Given the description of an element on the screen output the (x, y) to click on. 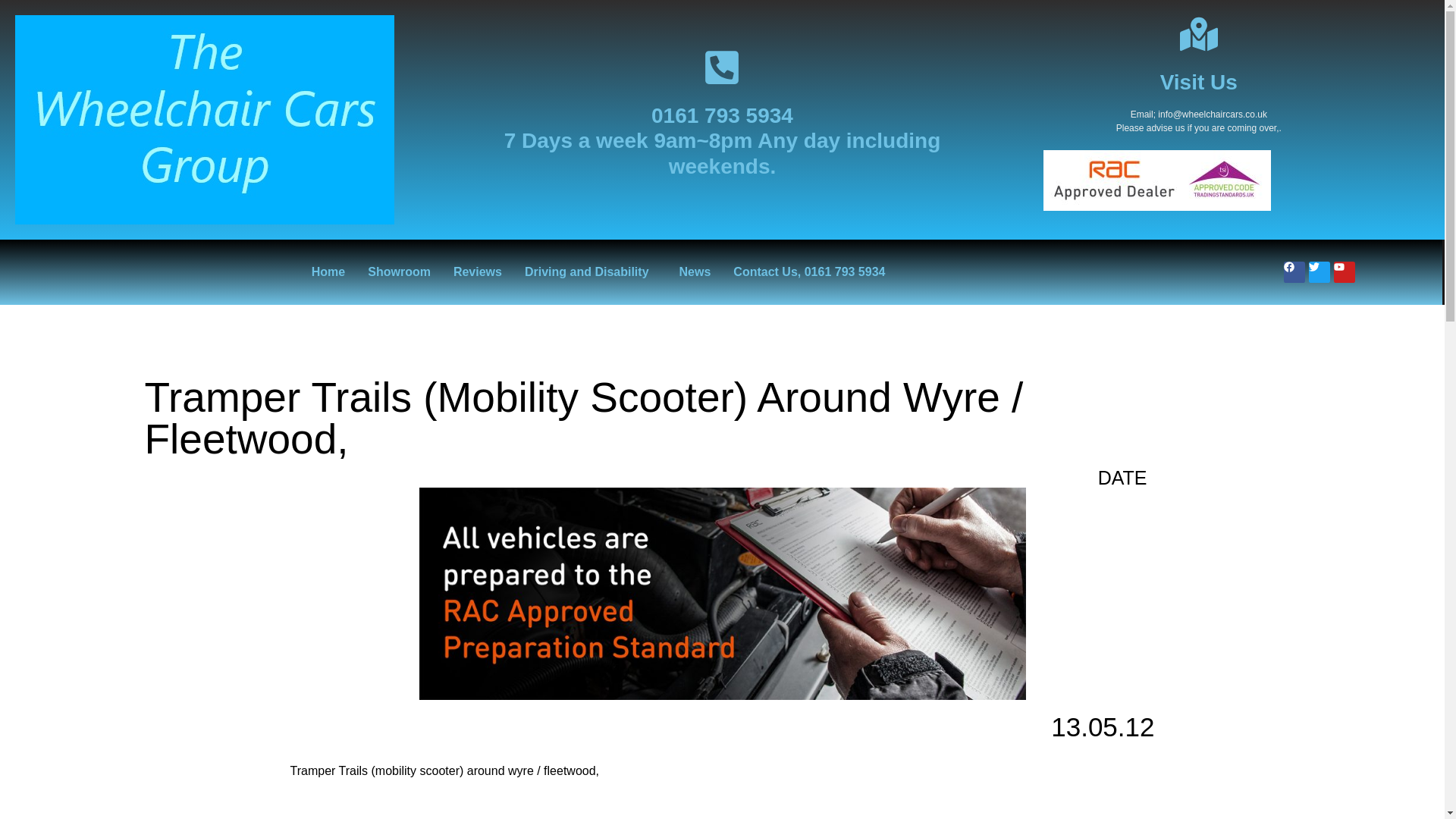
Wheelchair Cars Ltd Cars For Sale (399, 271)
Contact Us, 0161 793 5934 (809, 271)
Home (327, 271)
Reviews (477, 271)
News (695, 271)
Contact Wheelchair Cars Ltd (809, 271)
Showroom (399, 271)
Please Leave your feedback and reviews on this page, (477, 271)
Driving and Disability (590, 271)
Wheelchair Cars Ltd Home Page (327, 271)
